Given the description of an element on the screen output the (x, y) to click on. 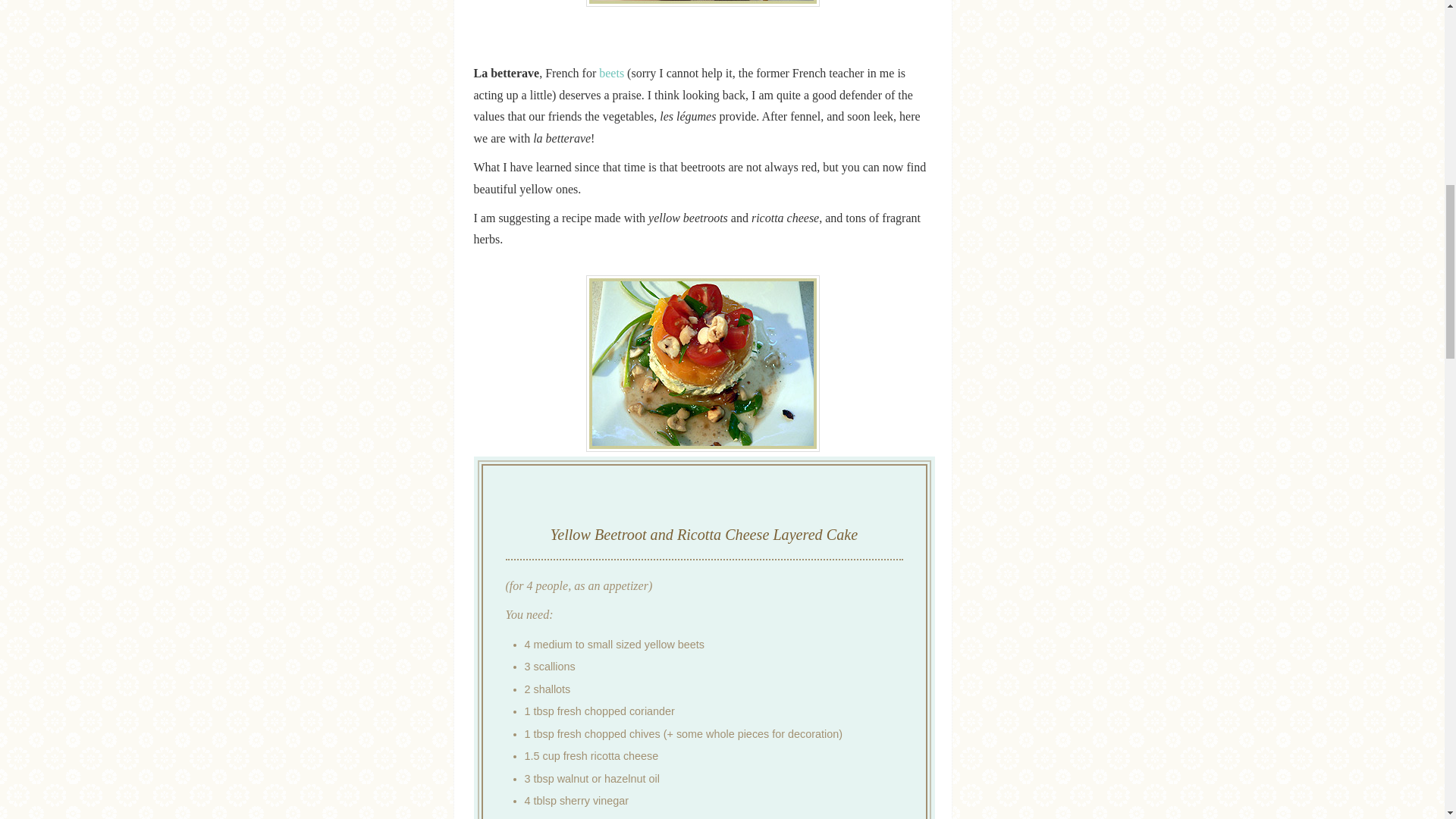
beets (609, 72)
